Given the description of an element on the screen output the (x, y) to click on. 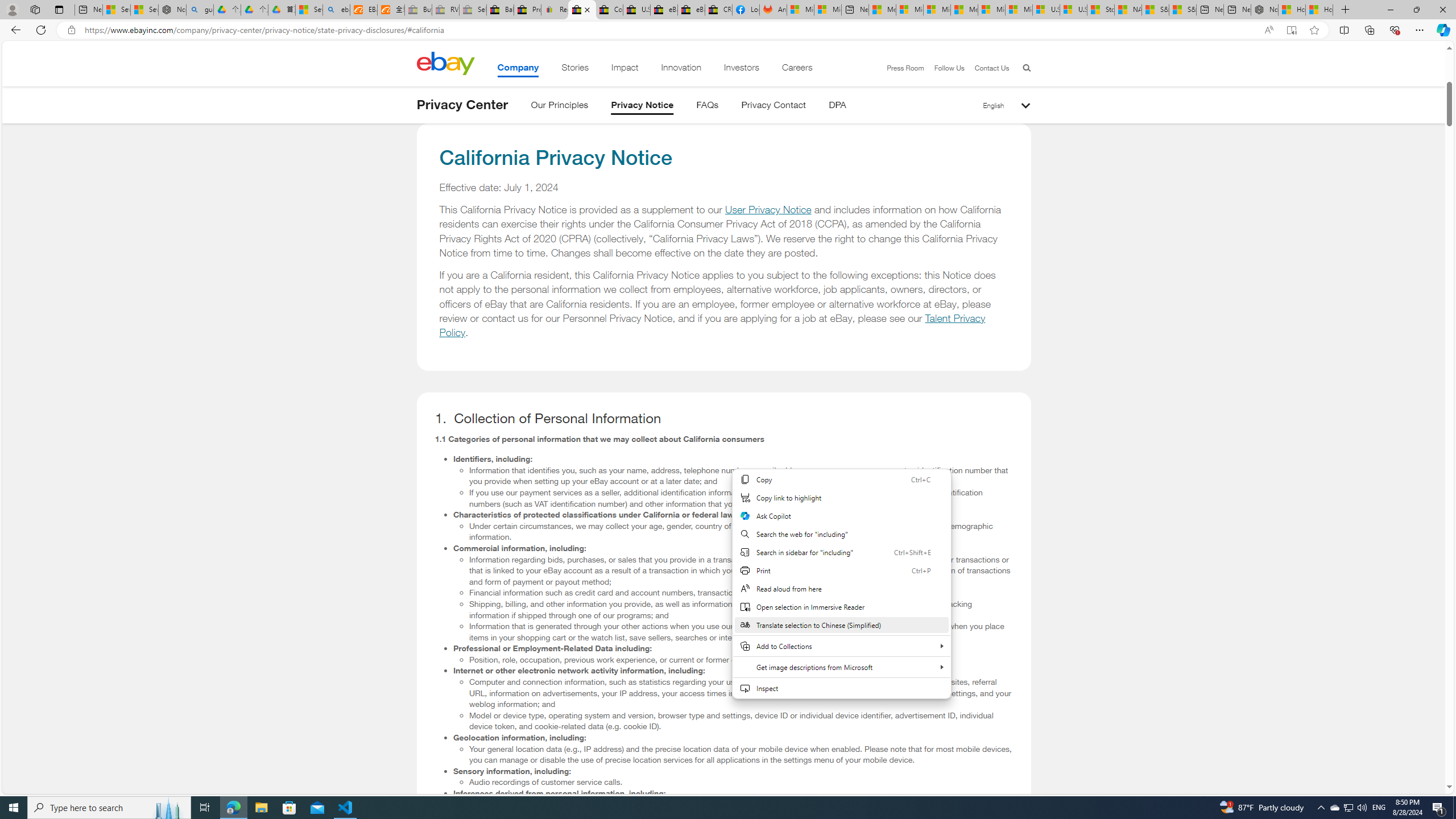
Copy link to highlight (841, 497)
How to Use a Monitor With Your Closed Laptop (1319, 9)
User Privacy Notice (767, 209)
Audio recordings of customer service calls. (740, 781)
Privacy Center (462, 104)
Ask Copilot (841, 515)
